Given the description of an element on the screen output the (x, y) to click on. 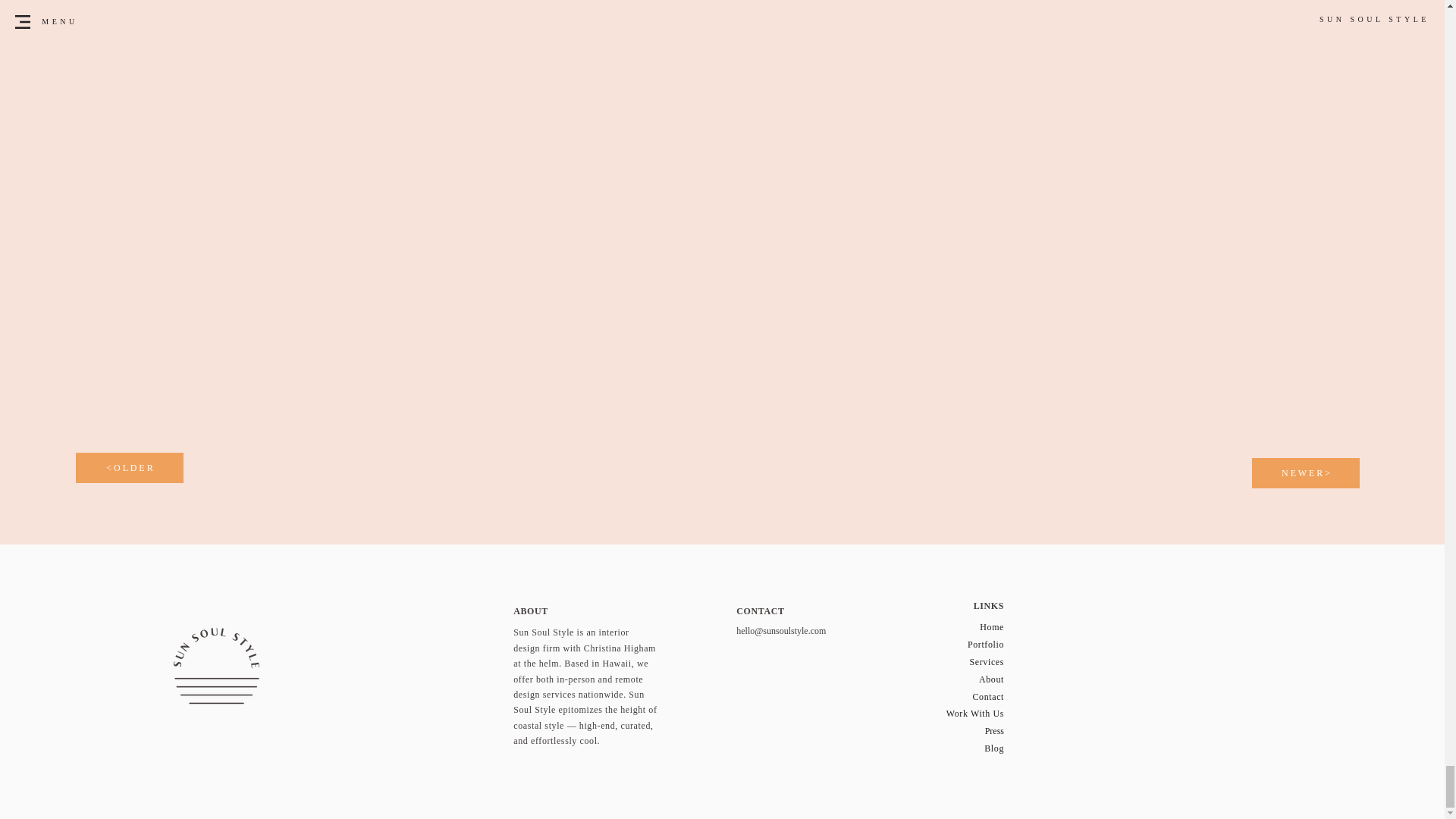
Services (986, 661)
Press (994, 730)
Blog (994, 747)
Portfolio (986, 644)
Contact (988, 696)
About (991, 679)
Home (991, 626)
Work With Us (975, 713)
